Given the description of an element on the screen output the (x, y) to click on. 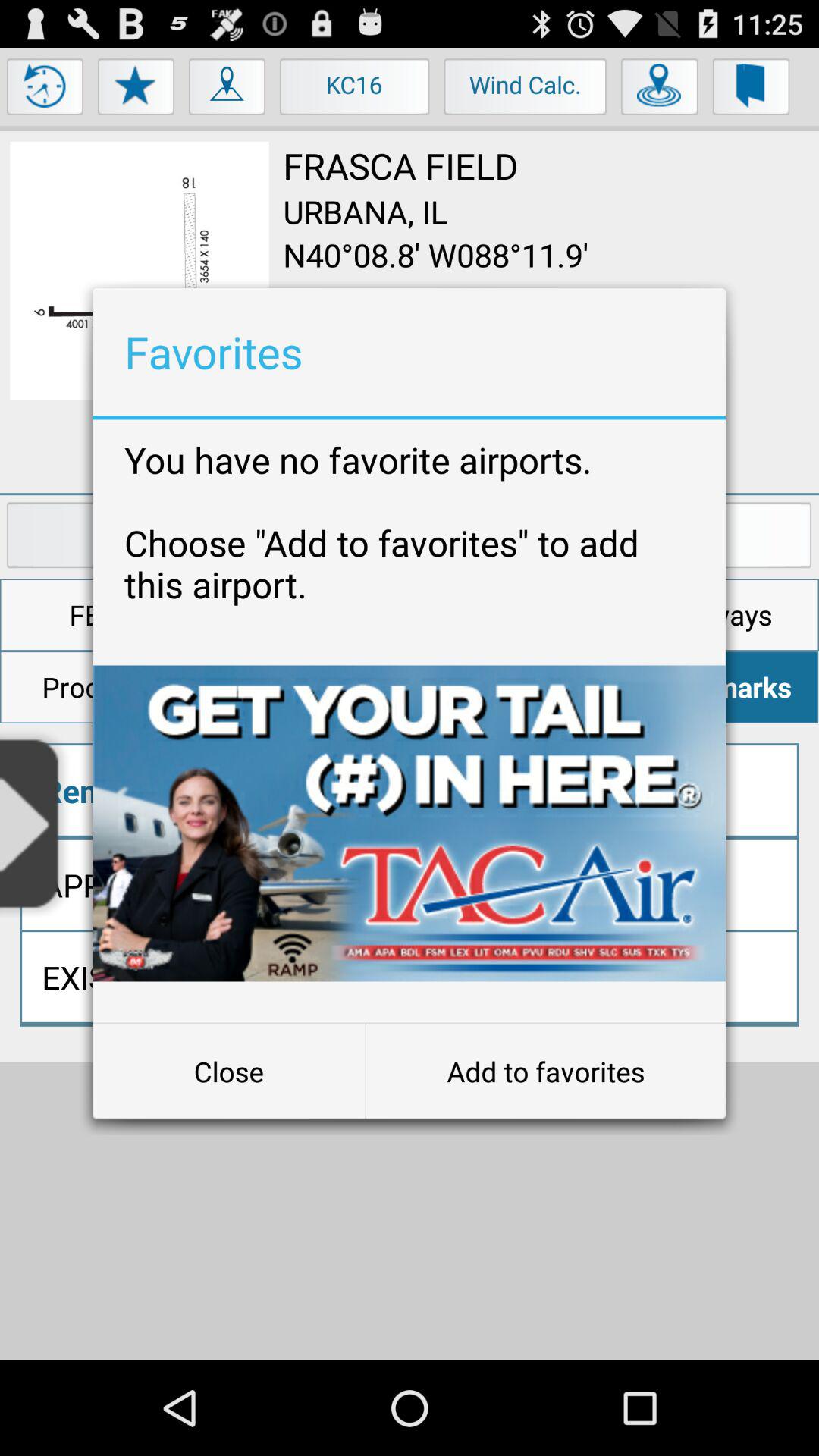
scroll to close button (228, 1071)
